Given the description of an element on the screen output the (x, y) to click on. 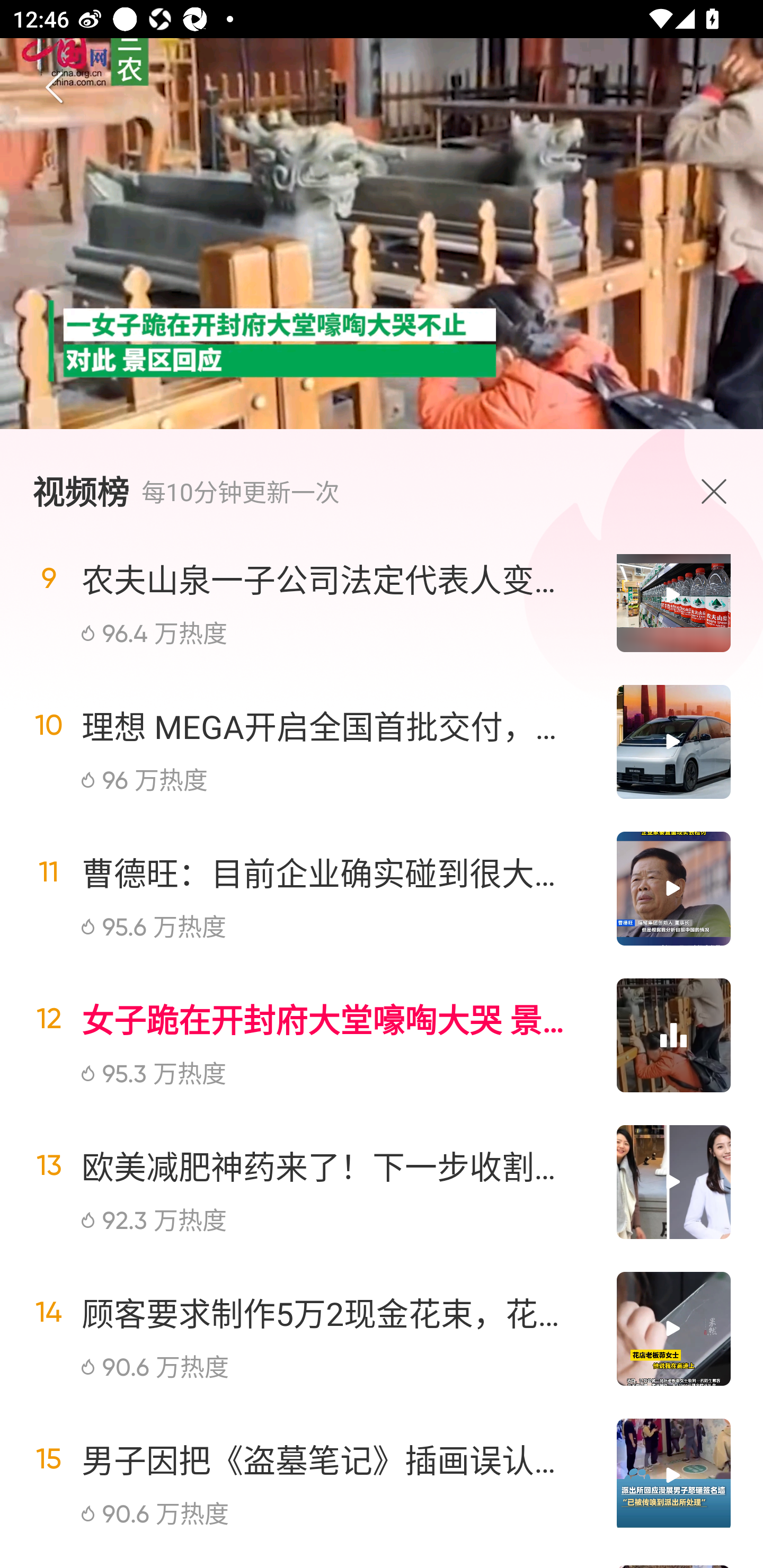
 返回 (54, 87)
 (718, 491)
9 农夫山泉一子公司法定代表人变更，钟睒睒卸任 96.4 万热度 (381, 610)
10 理想 MEGA开启全国首批交付，有谁今天提车了？ 96 万热度 (381, 741)
11 曹德旺：目前企业确实碰到很大麻烦，企业家要直面现实去检讨 95.6 万热度 (381, 888)
12 女子跪在开封府大堂嚎啕大哭 景区：可能心里有委屈 95.3 万热度 (381, 1035)
13 欧美减肥神药来了！下一步收割胖子？ 92.3 万热度 (381, 1181)
14 顾客要求制作5万2现金花束，花店老板竟成了“洗钱帮凶” 90.6 万热度 (381, 1328)
